Given the description of an element on the screen output the (x, y) to click on. 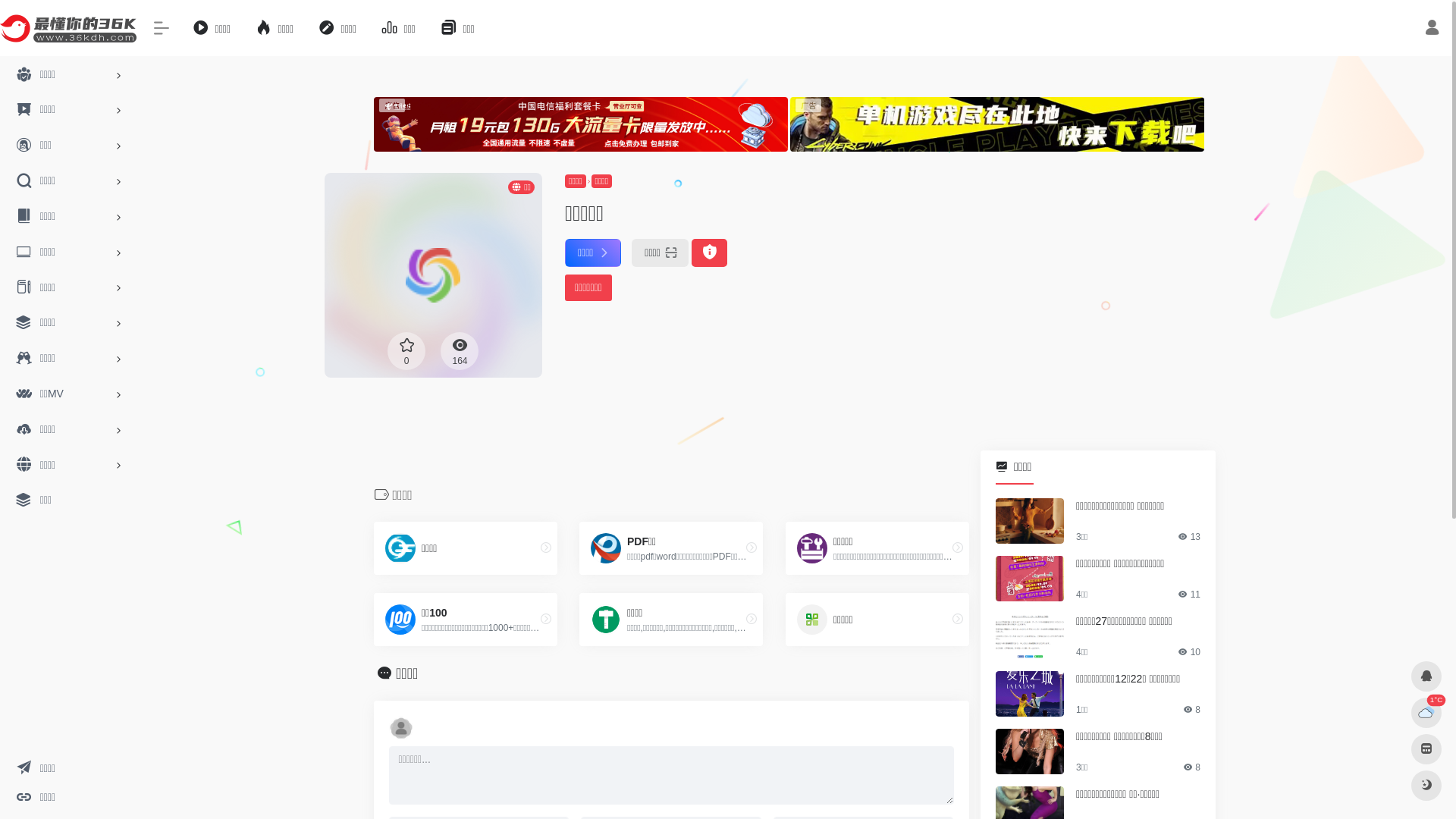
0 Element type: text (406, 351)
164 Element type: text (459, 351)
